Given the description of an element on the screen output the (x, y) to click on. 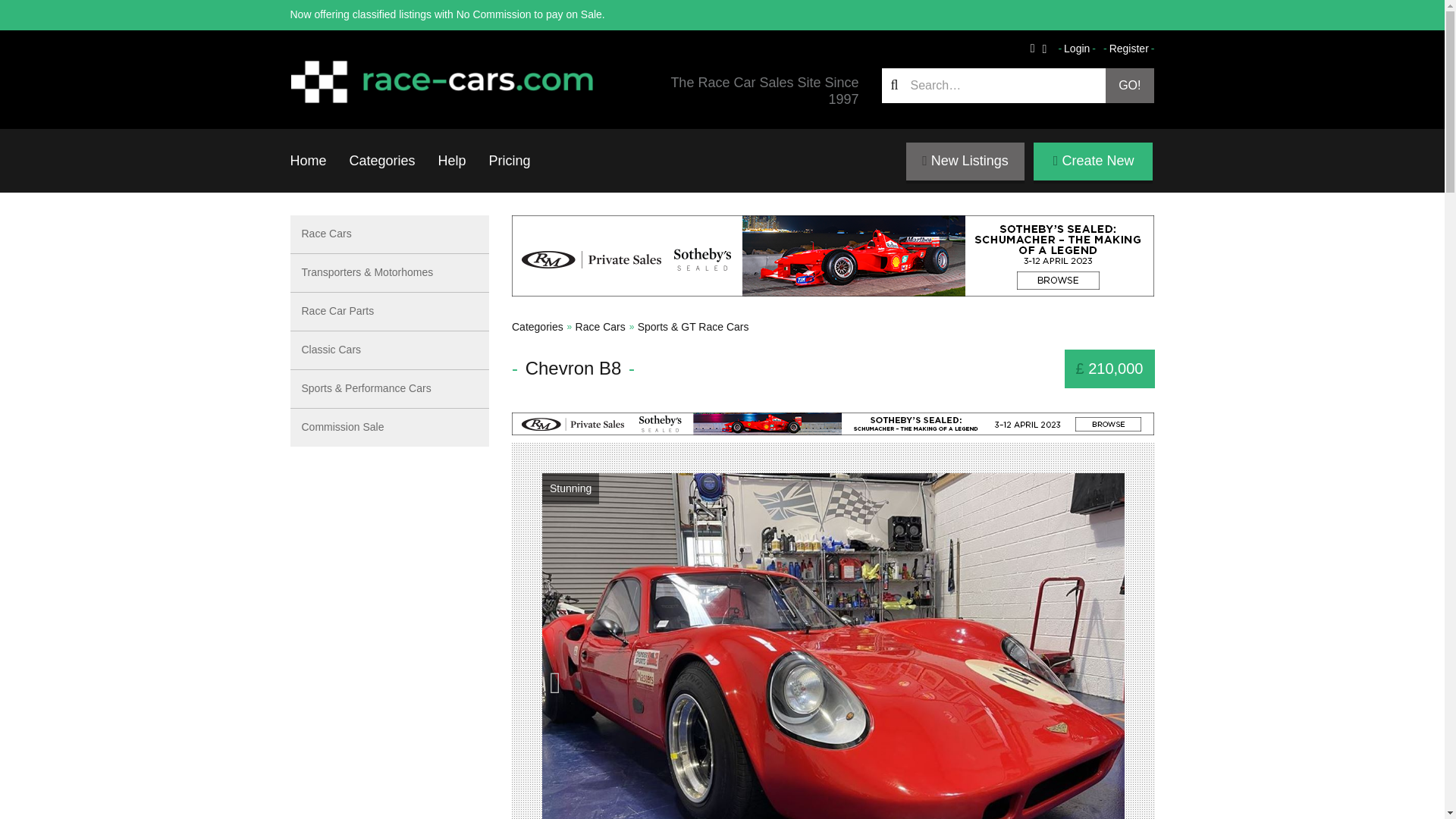
GO! (1129, 85)
RM Sotherby's (833, 423)
Create New (1093, 161)
Login (1077, 48)
Race Cars (600, 326)
Categories (381, 160)
RM Sotherby's (833, 255)
Categories (537, 326)
Home (308, 160)
Register (1128, 48)
New Listings (965, 161)
Pricing (509, 160)
